Given the description of an element on the screen output the (x, y) to click on. 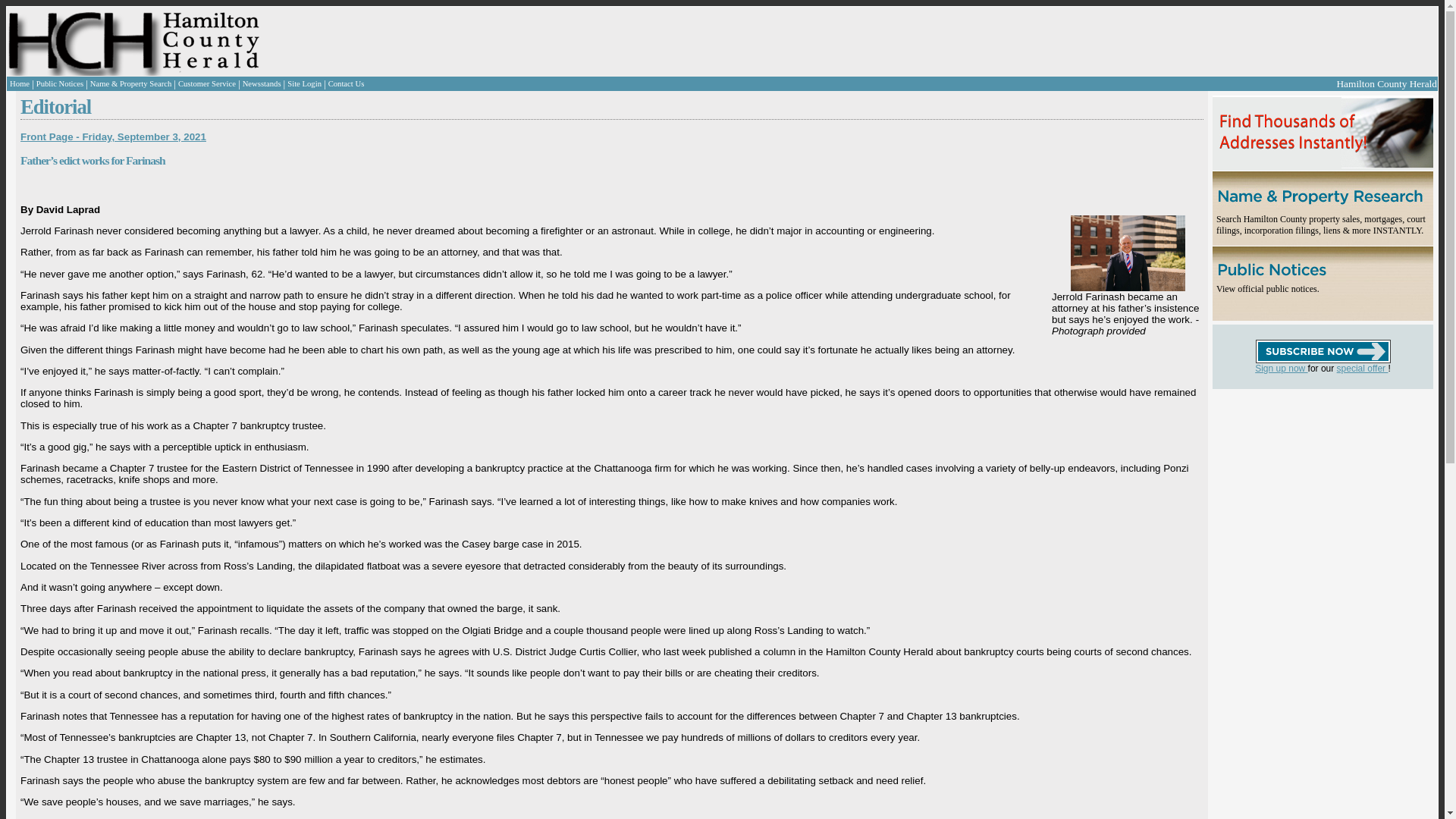
Site Login (303, 83)
special offer (1362, 368)
Public Notices (59, 83)
Sign up now (1281, 368)
Front Page - Friday, September 3, 2021 (113, 136)
Home (19, 83)
Contact Us (347, 83)
Customer Service (206, 83)
View official public notices. (1267, 288)
Newsstands (262, 83)
